Given the description of an element on the screen output the (x, y) to click on. 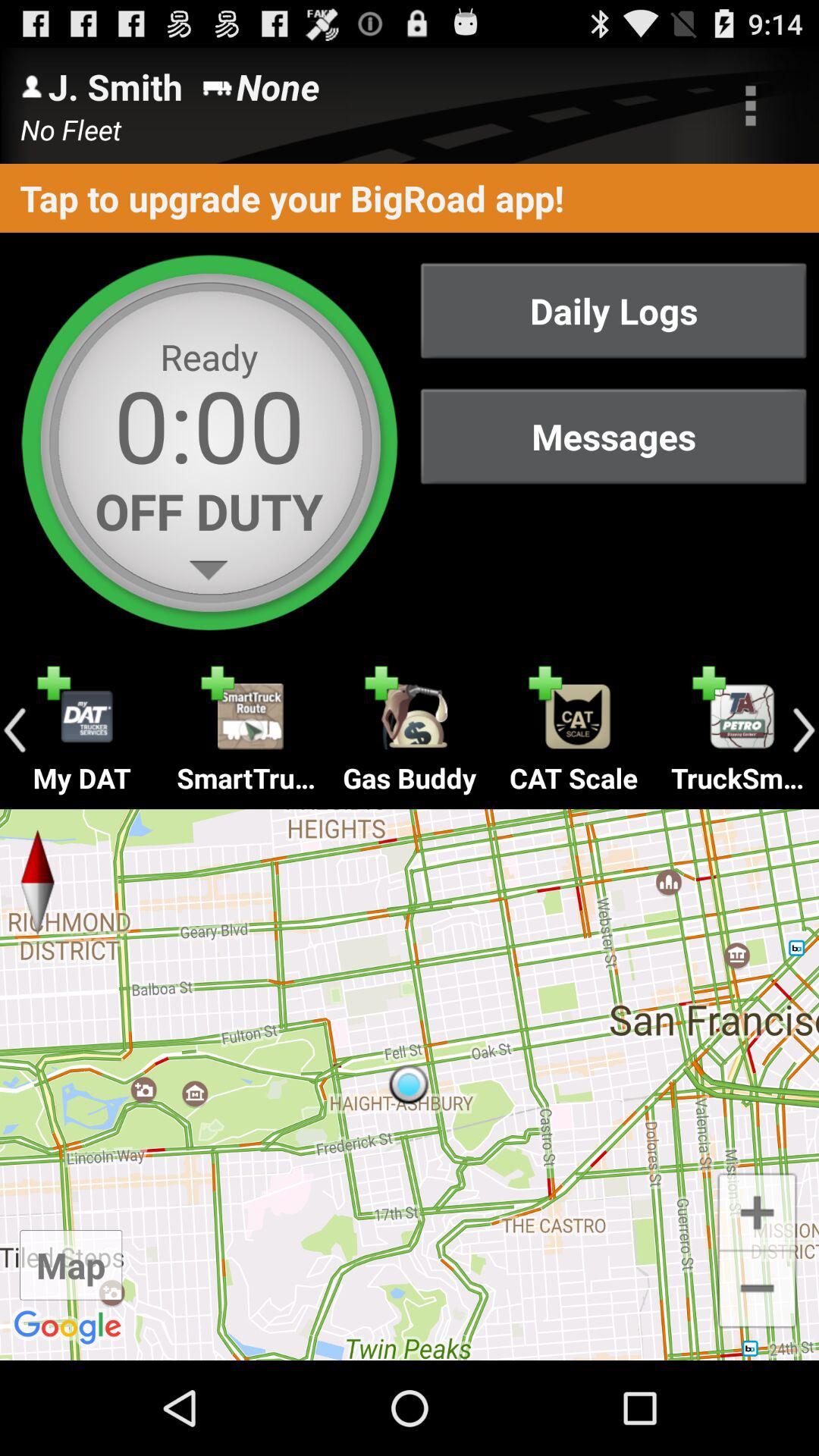
select the icon above the messages button (613, 310)
